Given the description of an element on the screen output the (x, y) to click on. 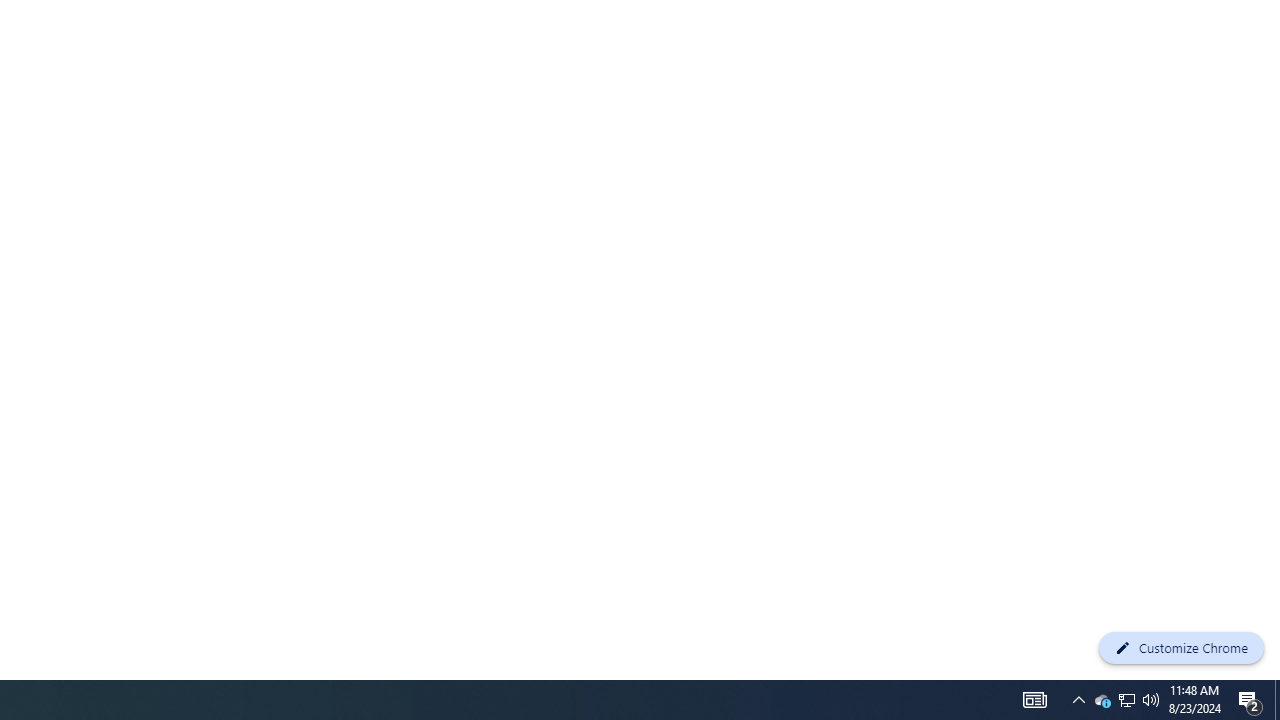
Action Center, 2 new notifications (1250, 699)
Show desktop (1277, 699)
Q2790: 100% (1151, 699)
AutomationID: 4105 (1034, 699)
Notification Chevron (1078, 699)
User Promoted Notification Area (1126, 699)
